Given the description of an element on the screen output the (x, y) to click on. 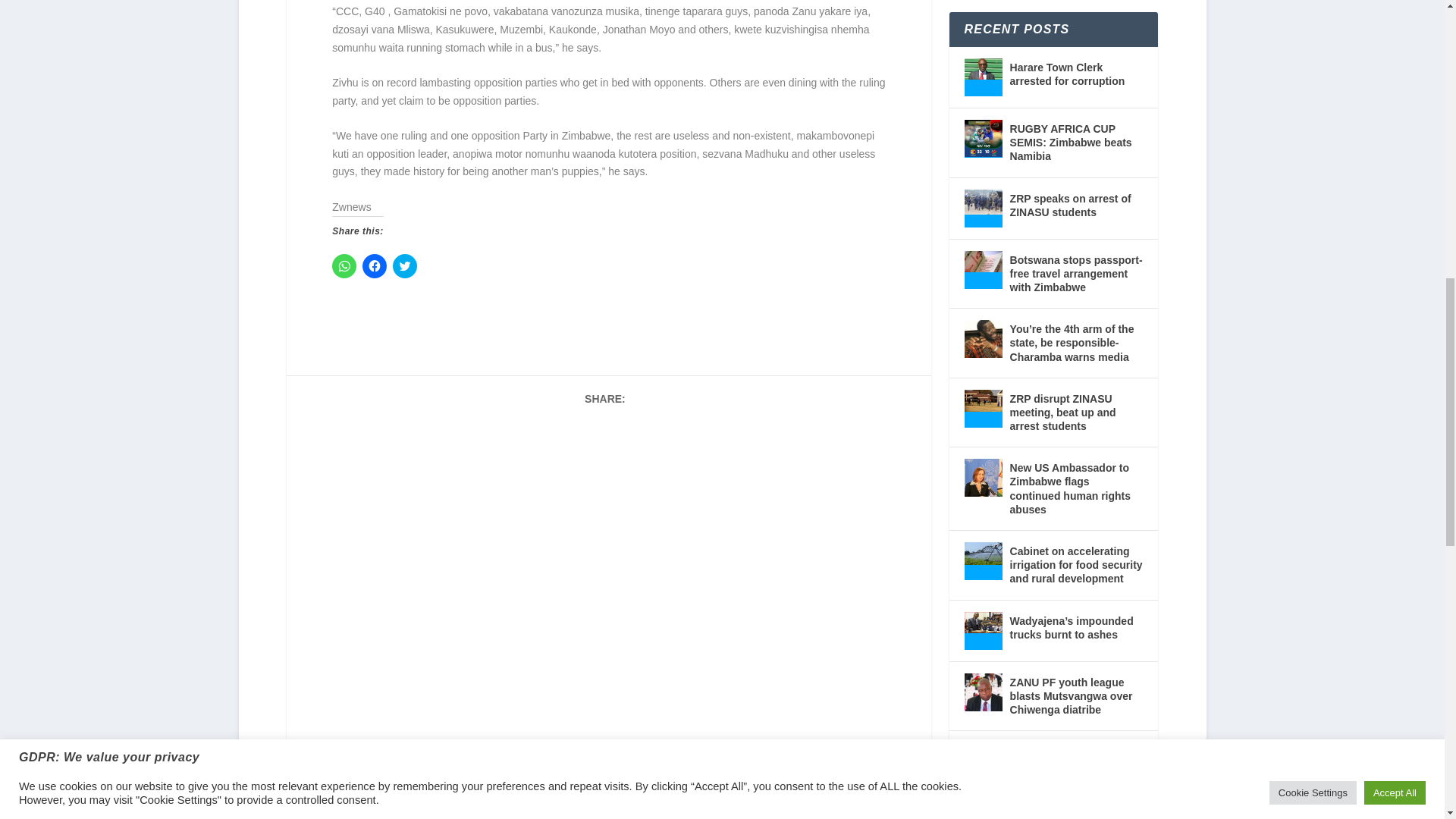
Click to share on Facebook (374, 265)
Click to share on Twitter (404, 265)
Click to share on WhatsApp (343, 265)
